Given the description of an element on the screen output the (x, y) to click on. 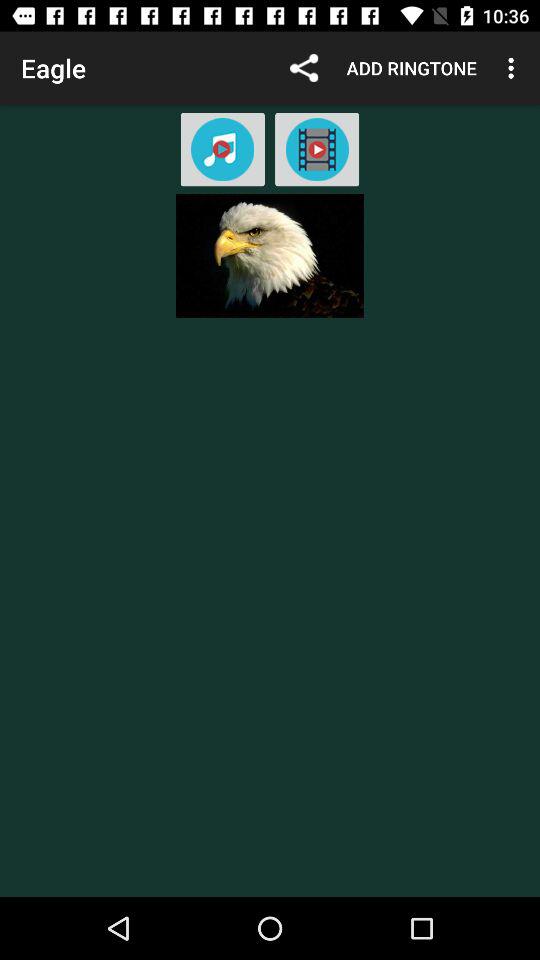
flip to the add ringtone item (411, 67)
